Given the description of an element on the screen output the (x, y) to click on. 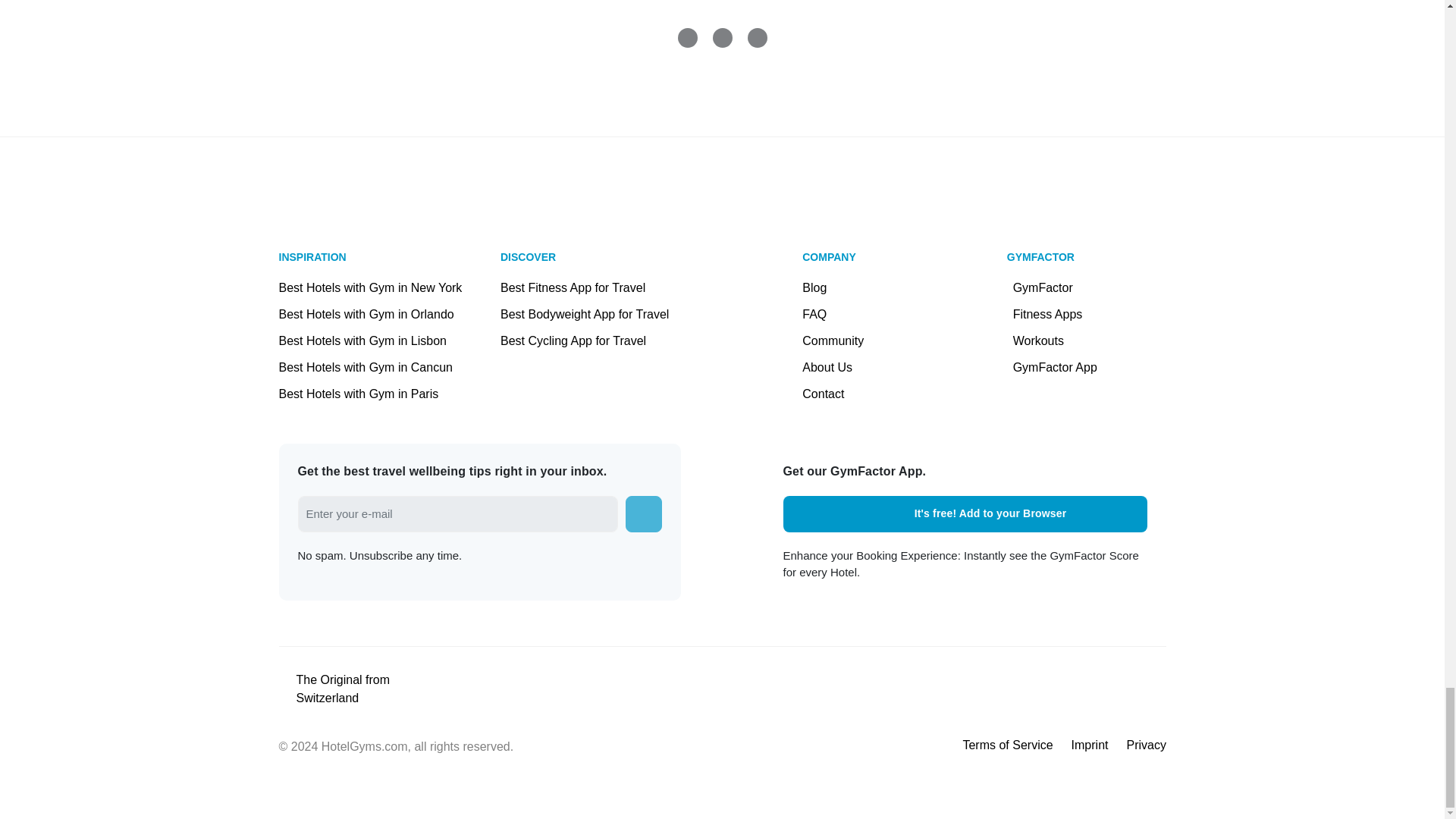
About Us (832, 367)
Blog (832, 287)
Best Bodyweight App for Travel (611, 314)
GymFactor (1055, 287)
Best Cycling App for Travel (611, 340)
GymFactor App (1055, 367)
Best Hotels with Gym in Lisbon (362, 340)
FAQ (832, 314)
GymFactor (1055, 287)
Best Bodyweight App for Travel (611, 314)
